Given the description of an element on the screen output the (x, y) to click on. 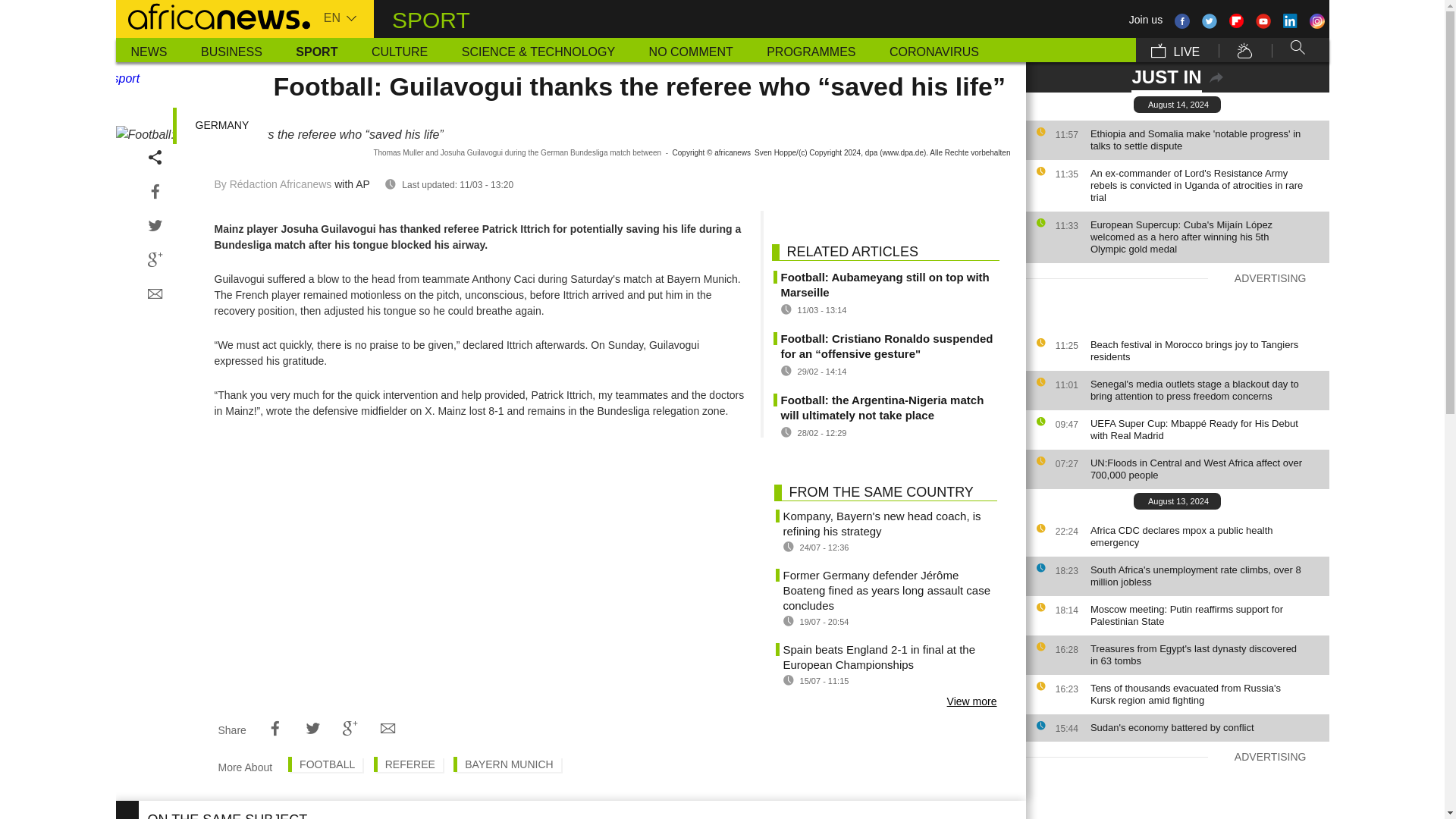
LIVE (1174, 49)
News (148, 49)
Coronavirus (934, 49)
CULTURE (399, 49)
CORONAVIRUS (934, 49)
PROGRAMMES (810, 49)
Programmes (810, 49)
